Given the description of an element on the screen output the (x, y) to click on. 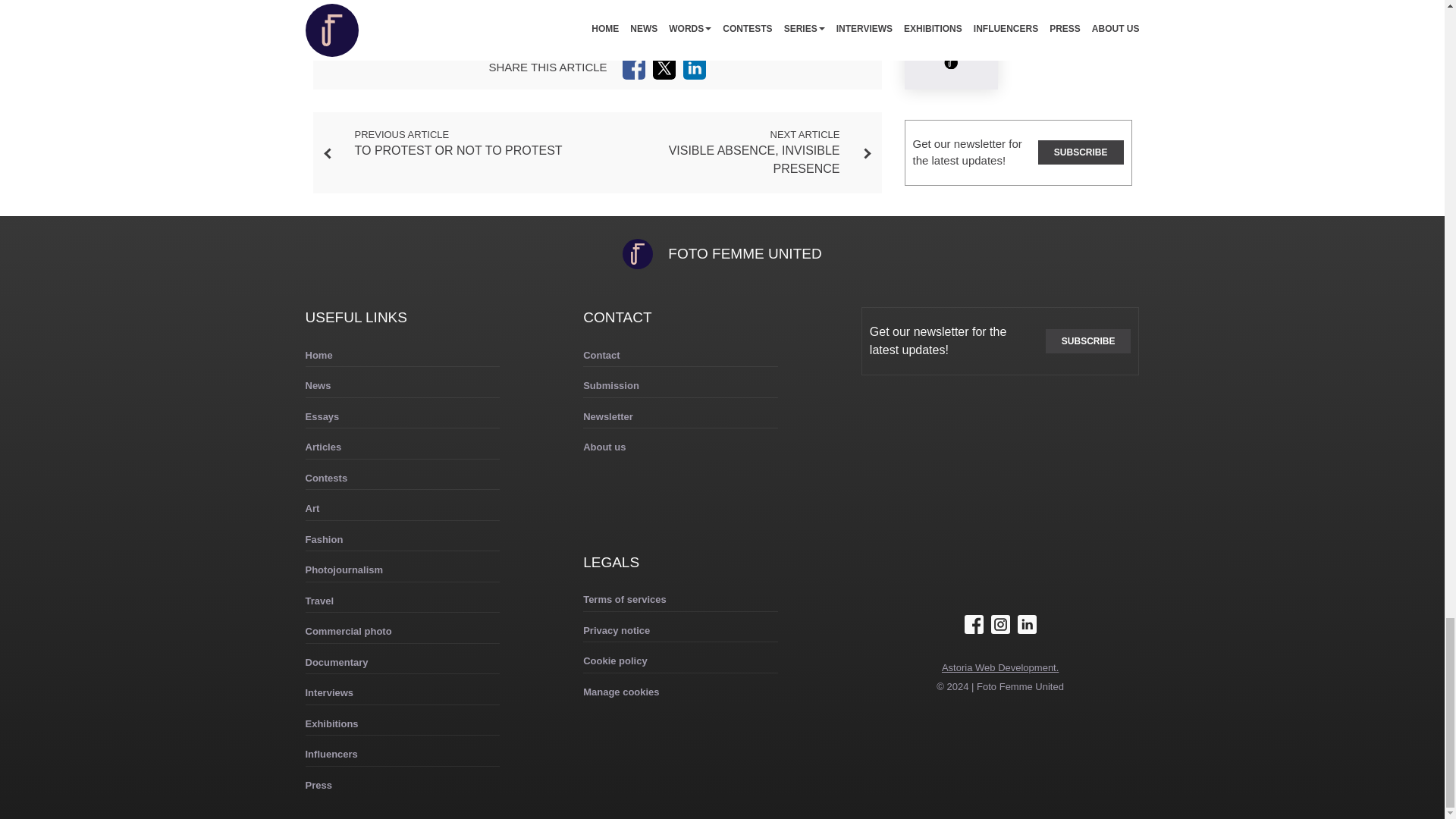
VISIBLE ABSENCE, INVISIBLE PRESENCE (754, 159)
To protest or not to protest (458, 150)
Visible Absence, Invisible Presence (754, 159)
TO PROTEST OR NOT TO PROTEST (458, 150)
Share this article on Facebook (634, 67)
Share this article on Linked In (694, 67)
